Given the description of an element on the screen output the (x, y) to click on. 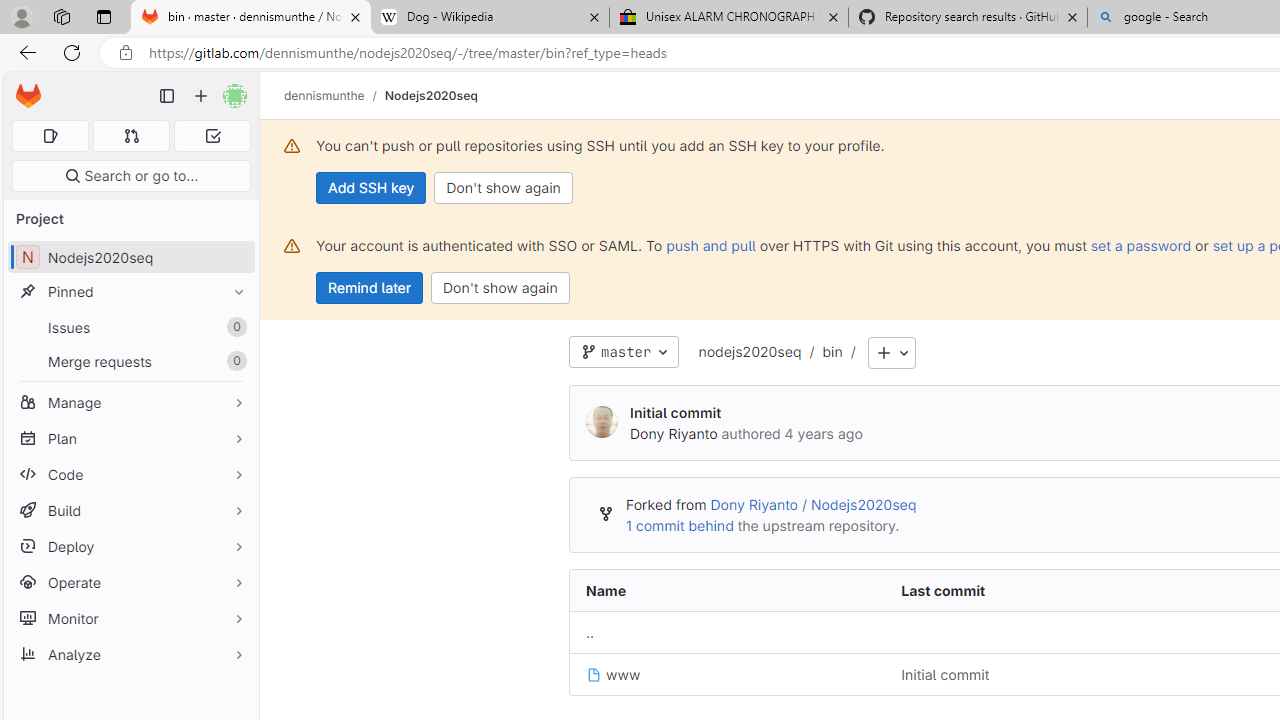
Dony Riyanto's avatar (602, 423)
Remind later (369, 287)
dennismunthe/ (334, 95)
Unpin Merge requests (234, 361)
Nodejs2020seq (430, 95)
Plan (130, 438)
1 commit behind (679, 525)
Deploy (130, 546)
Code (130, 474)
Nodejs2020seq (430, 95)
Deploy (130, 546)
Operate (130, 582)
master (624, 351)
